Given the description of an element on the screen output the (x, y) to click on. 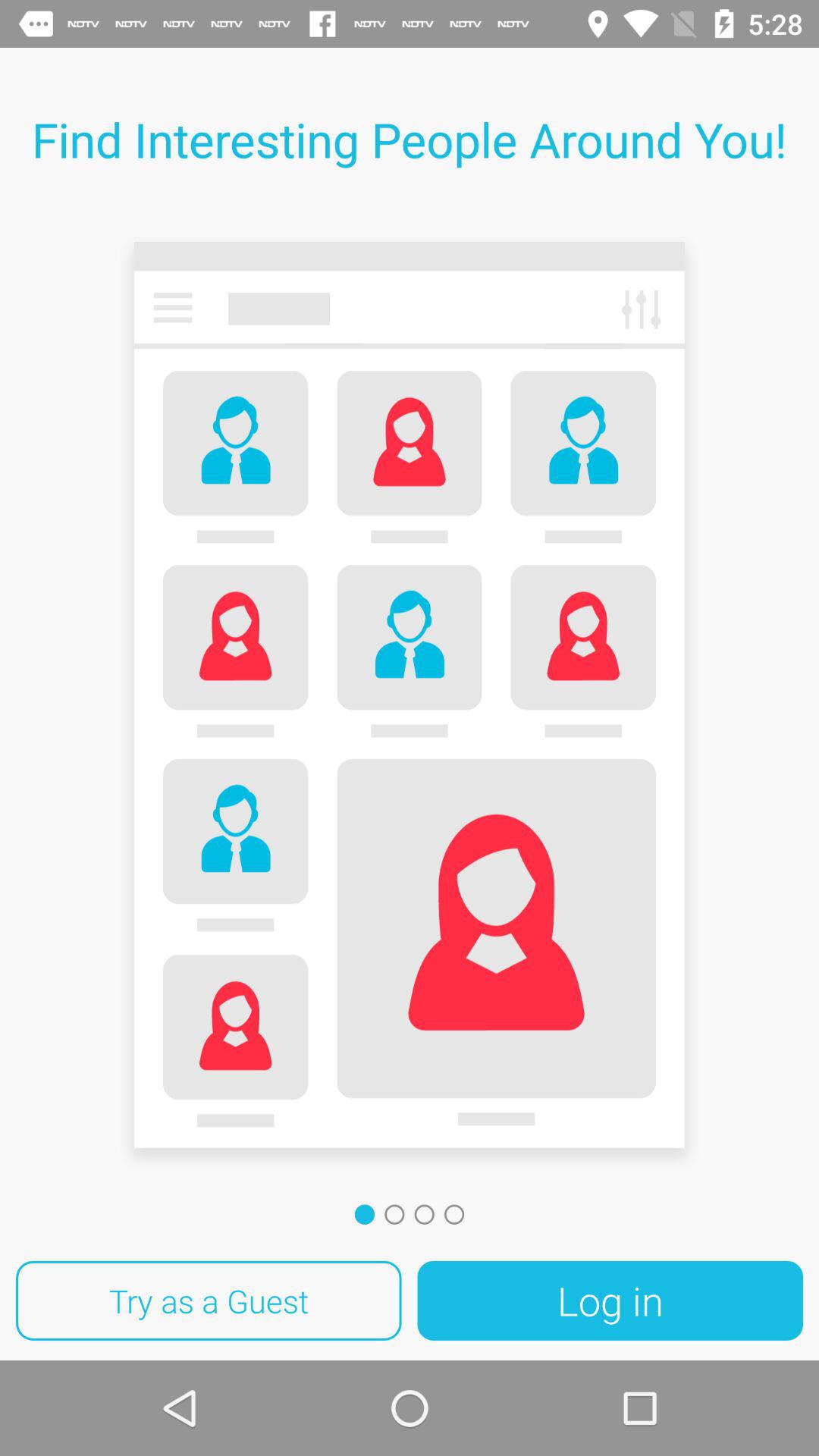
turn on the try as a item (208, 1300)
